Given the description of an element on the screen output the (x, y) to click on. 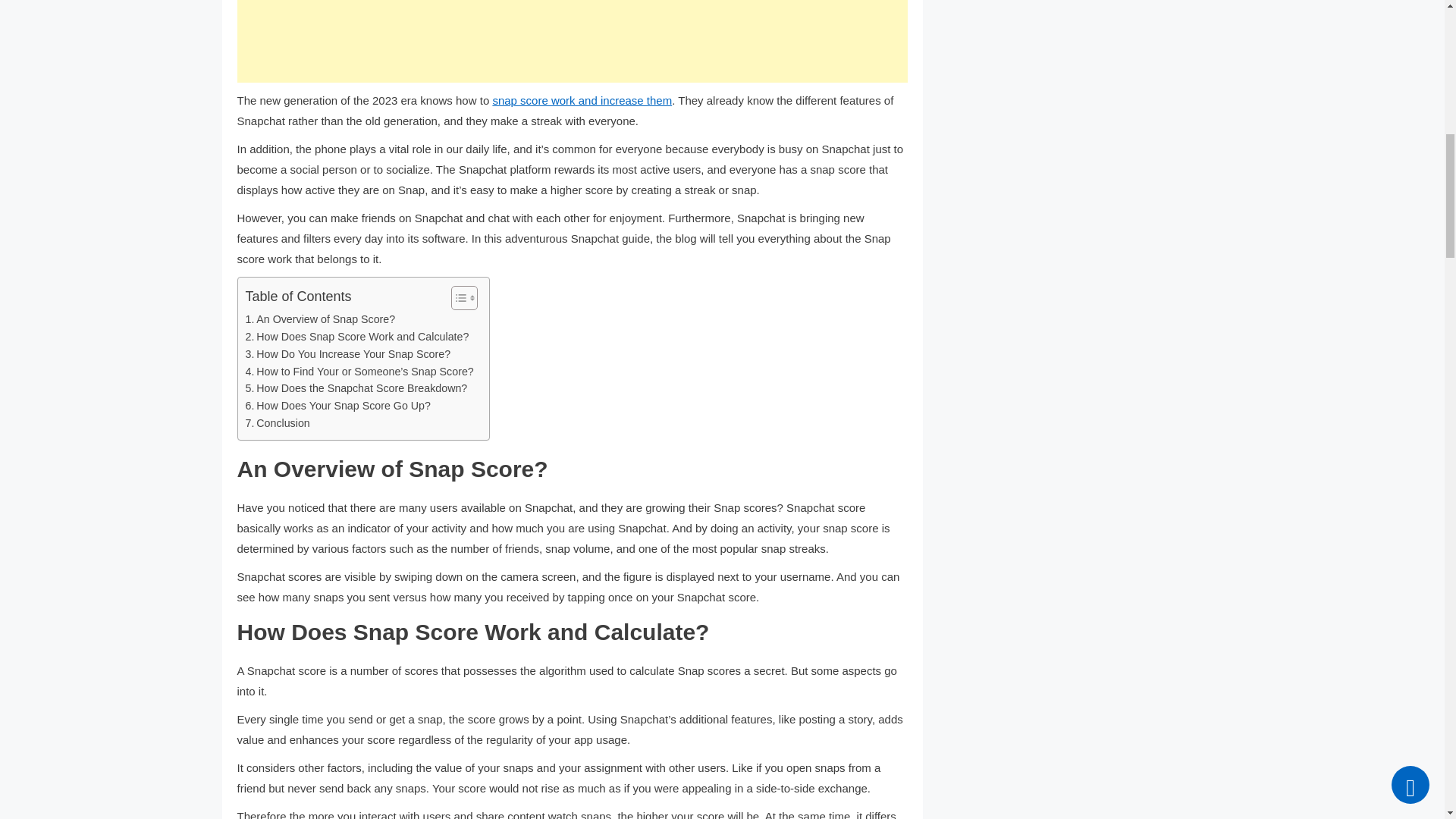
How Does Your Snap Score Go Up? (338, 405)
How Do You Increase Your Snap Score? (348, 354)
How Does Your Snap Score Go Up? (338, 405)
Conclusion (278, 423)
How Does the Snapchat Score Breakdown? (356, 388)
Conclusion (278, 423)
How Does the Snapchat Score Breakdown? (356, 388)
How Does Snap Score Work and Calculate? (357, 336)
How Does Snap Score Work and Calculate? (357, 336)
Advertisement (571, 41)
